Given the description of an element on the screen output the (x, y) to click on. 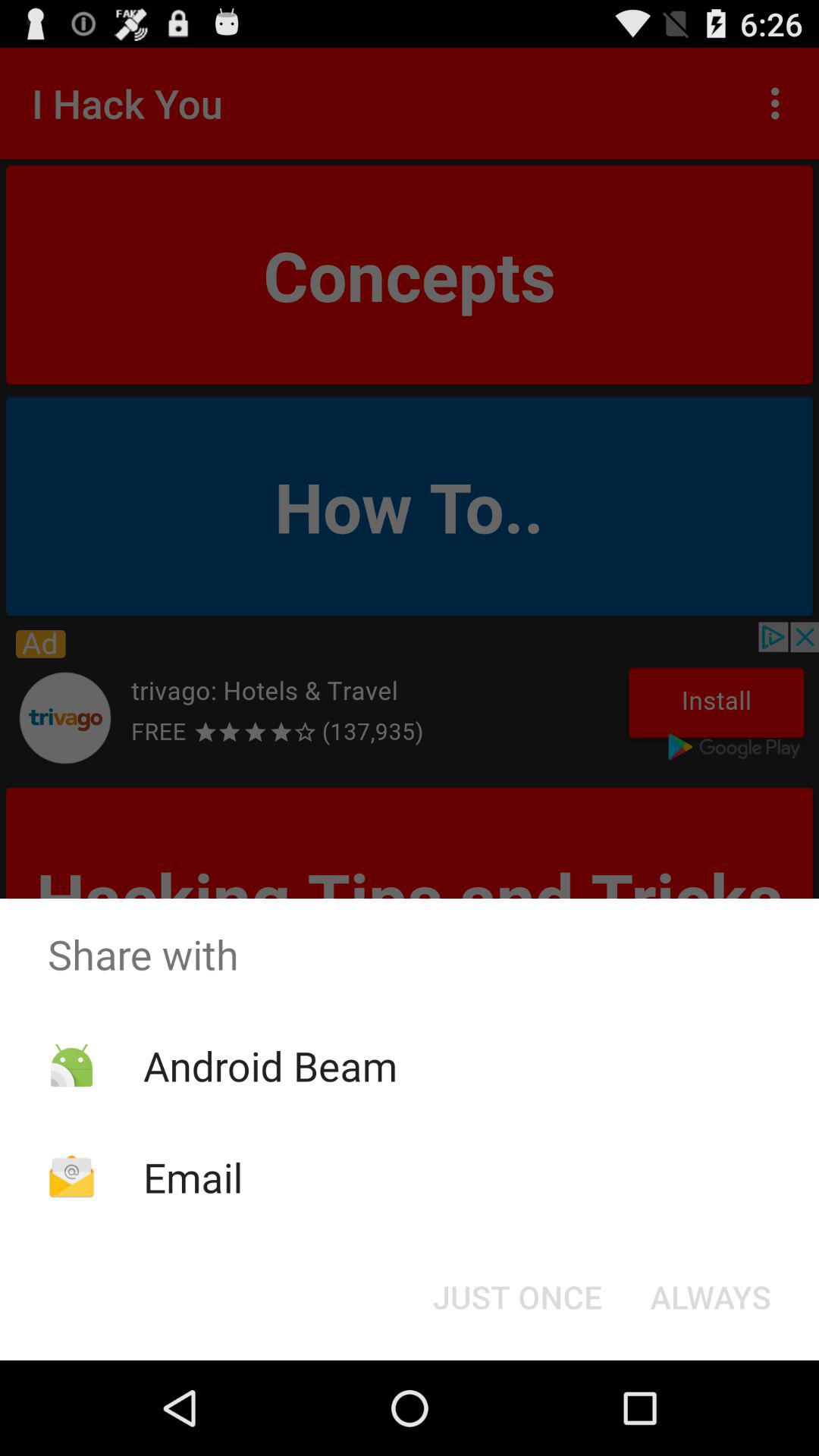
press icon below share with item (517, 1296)
